Given the description of an element on the screen output the (x, y) to click on. 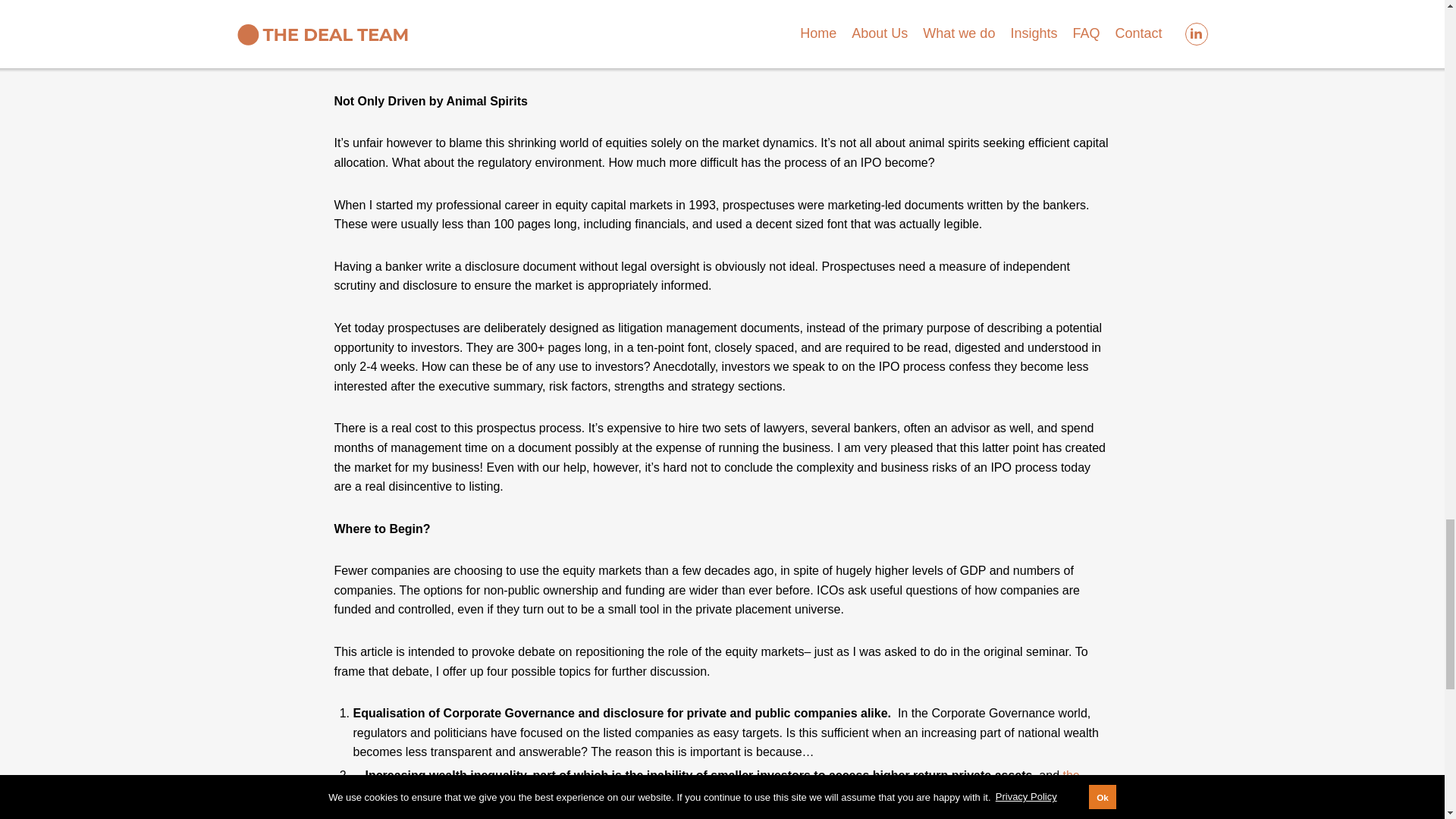
the consequent accumulation of wealth among the wealthiest (716, 788)
subpoenaed by the US Securities and Exchange Commission (713, 56)
